Given the description of an element on the screen output the (x, y) to click on. 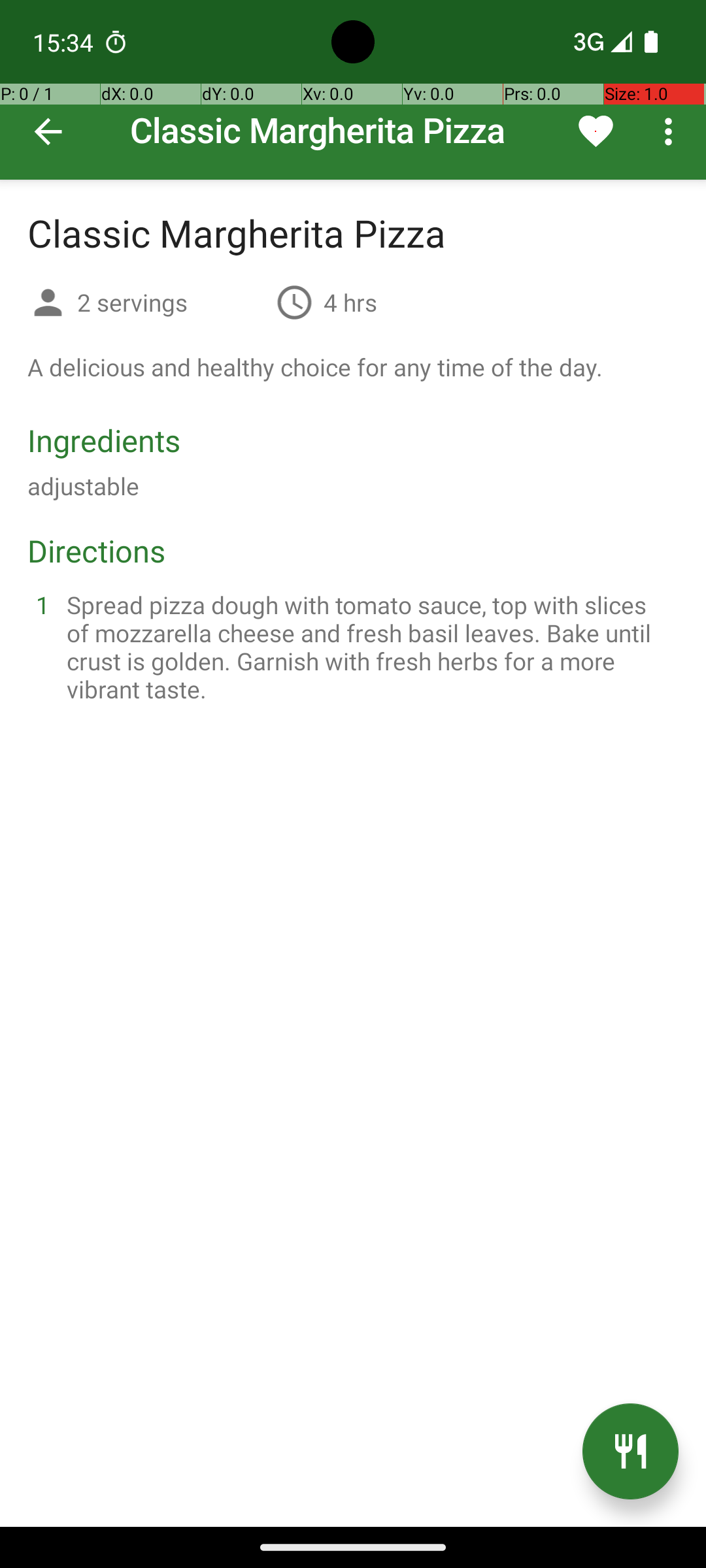
Spread pizza dough with tomato sauce, top with slices of mozzarella cheese and fresh basil leaves. Bake until crust is golden. Garnish with fresh herbs for a more vibrant taste. Element type: android.widget.TextView (368, 646)
